Given the description of an element on the screen output the (x, y) to click on. 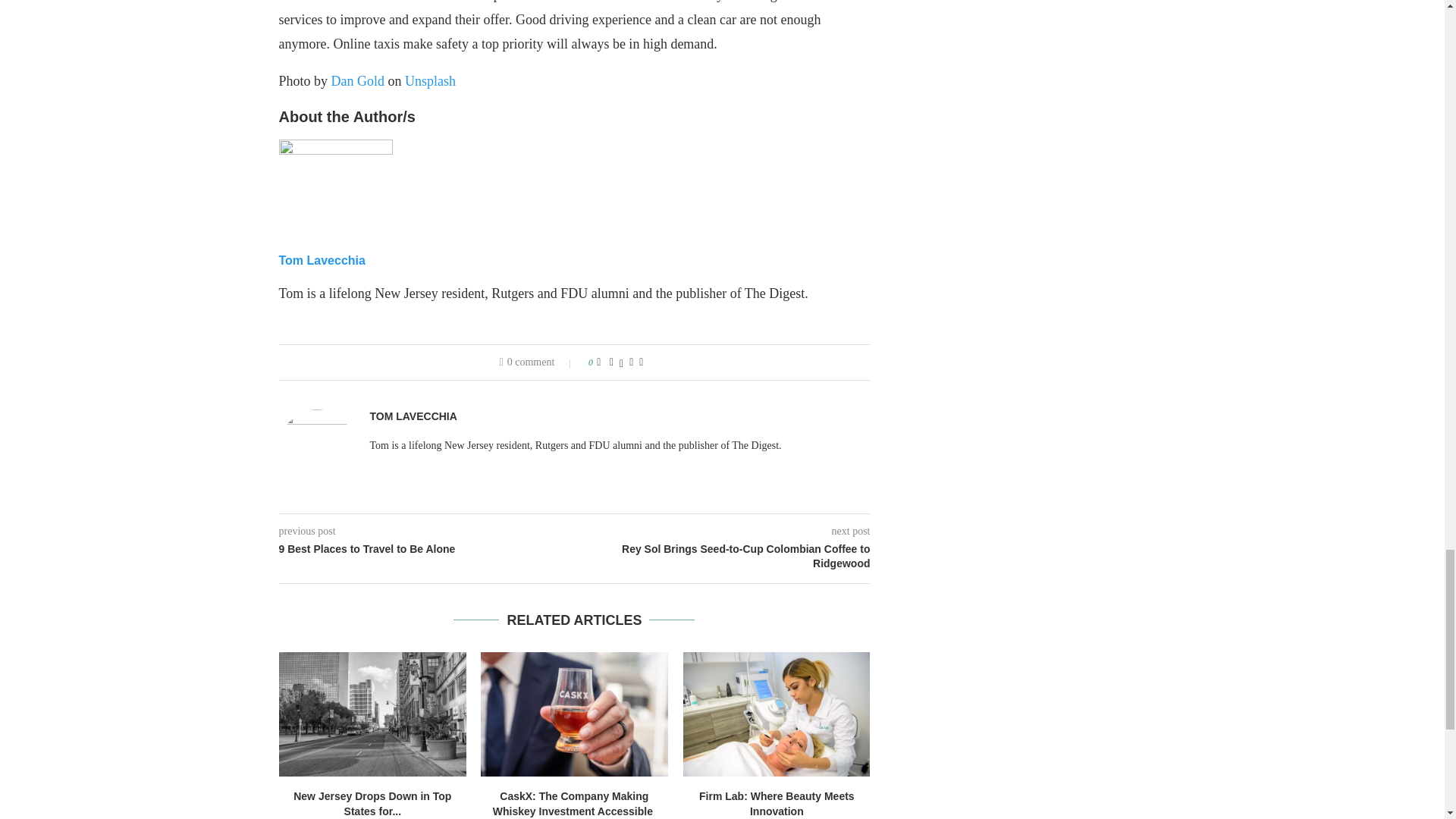
Firm Lab: Where Beauty Meets Innovation (776, 713)
Author Tom Lavecchia (413, 416)
